Given the description of an element on the screen output the (x, y) to click on. 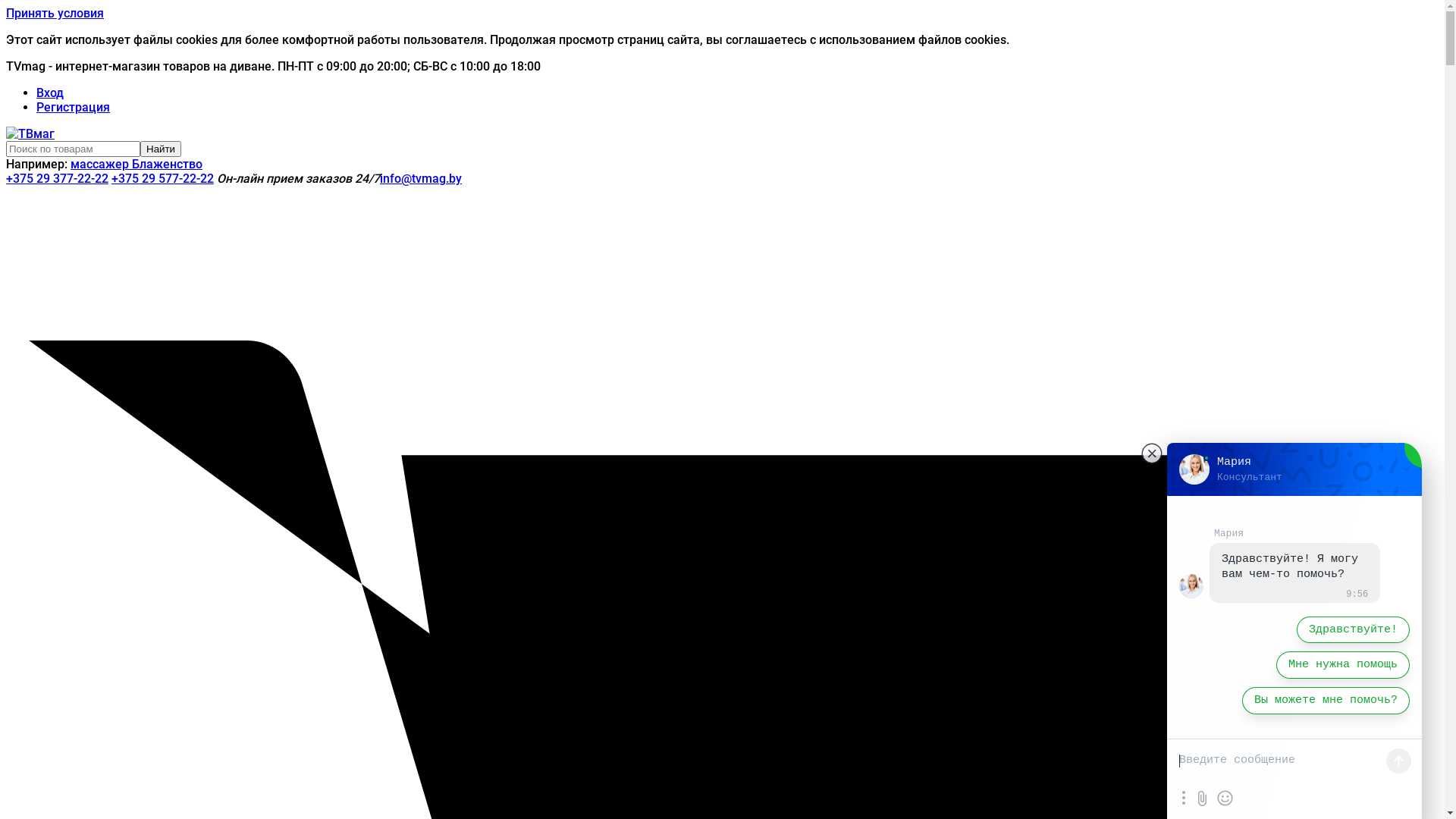
info@tvmag.by Element type: text (420, 178)
+375 29 377-22-22 Element type: text (57, 178)
+375 29 577-22-22 Element type: text (162, 178)
